Given the description of an element on the screen output the (x, y) to click on. 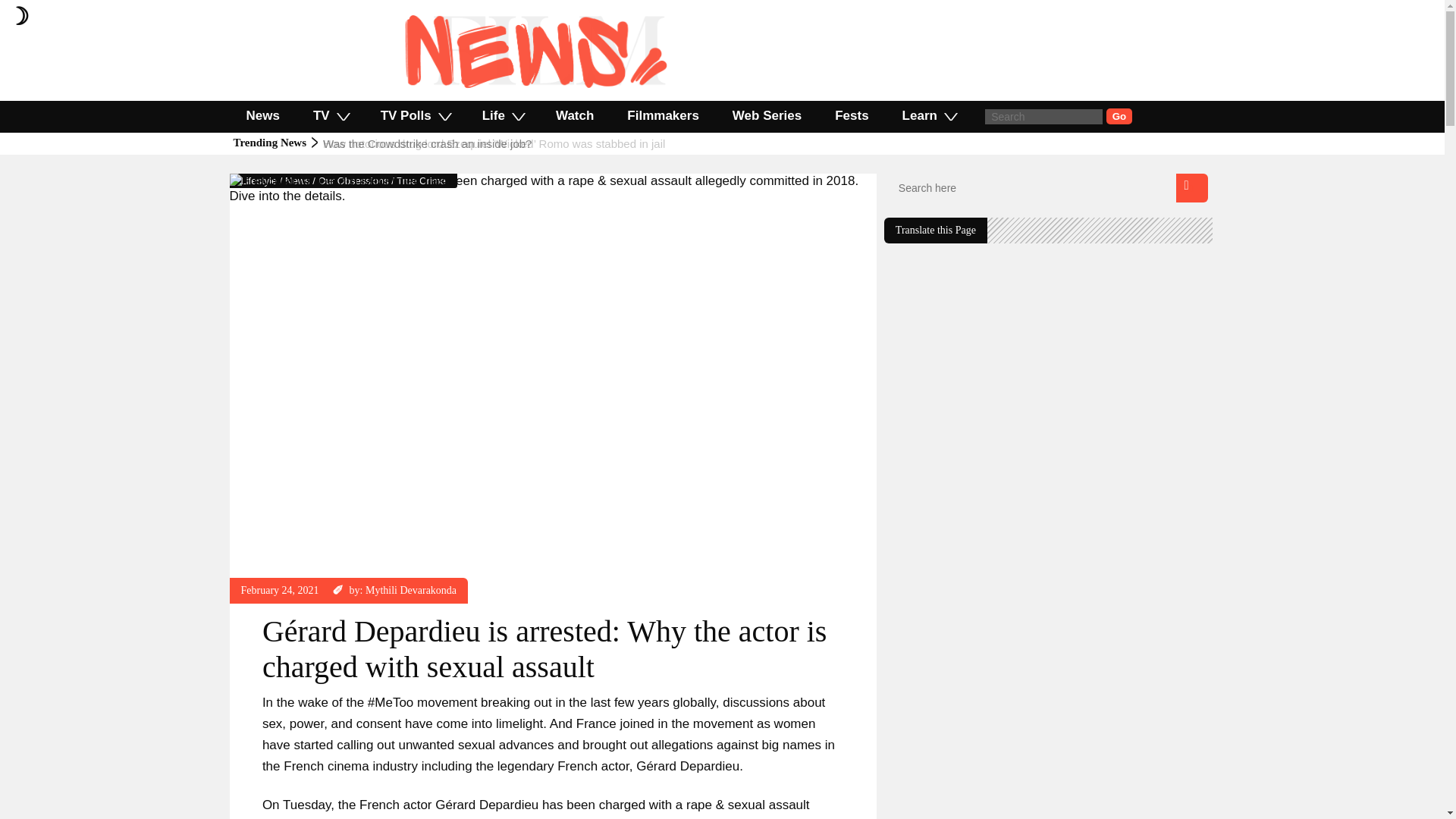
News (261, 115)
Life (501, 115)
Web Series (767, 115)
TV Polls (414, 115)
Watch (574, 115)
Fests (851, 115)
Go (1119, 116)
Learn (928, 115)
Go (1119, 116)
Filmmakers (663, 115)
TV (330, 115)
News (297, 180)
Lifestyle (259, 180)
Go (1119, 116)
